Given the description of an element on the screen output the (x, y) to click on. 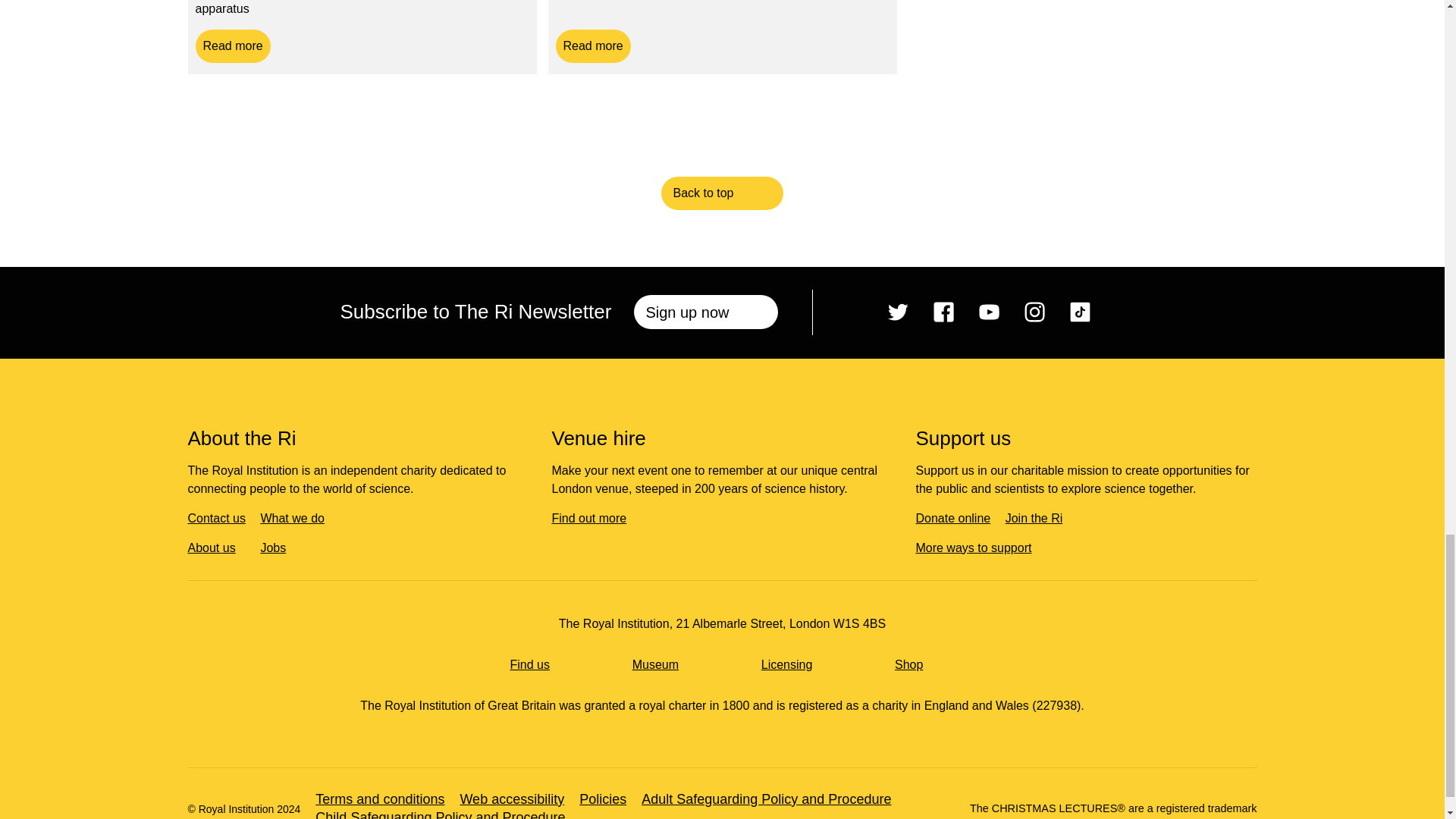
Open A tour of Michael Faraday in London (592, 45)
Open Twitter (897, 311)
Open YouTube (232, 45)
Open Instagram (989, 311)
Open TikTok (1034, 311)
Terms and conditions (1079, 311)
Open Facebook (387, 799)
Open Michael Faraday's generator (943, 311)
